Given the description of an element on the screen output the (x, y) to click on. 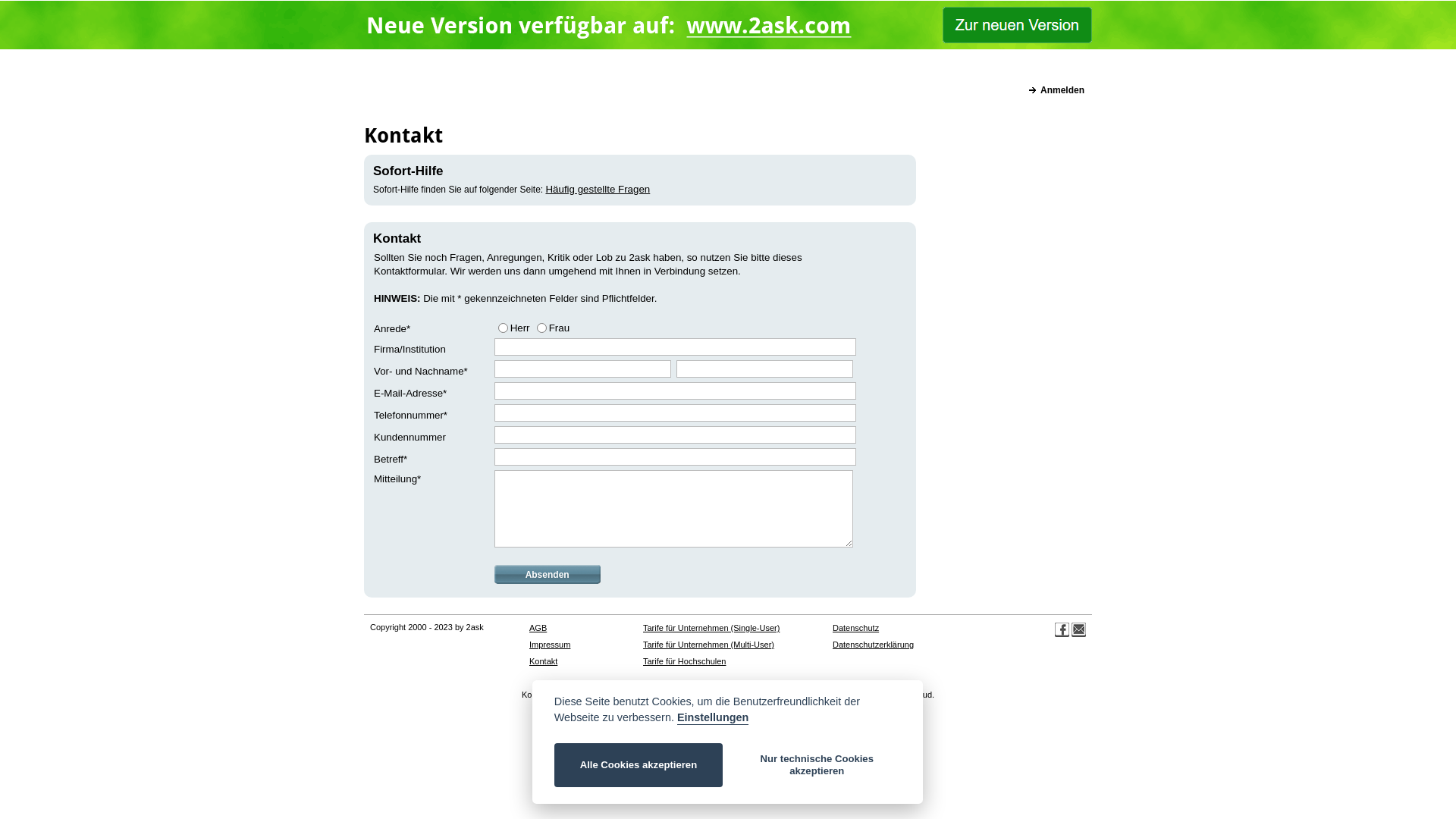
AGB Element type: text (537, 627)
Absenden Element type: text (547, 573)
Nur technische Cookies akzeptieren Element type: text (817, 765)
Datenschutz Element type: text (855, 627)
Einstellungen Element type: text (712, 717)
Anmelden Element type: text (1056, 89)
Kontakt Element type: text (543, 660)
Impressum Element type: text (549, 644)
Alle Cookies akzeptieren Element type: text (638, 765)
